Given the description of an element on the screen output the (x, y) to click on. 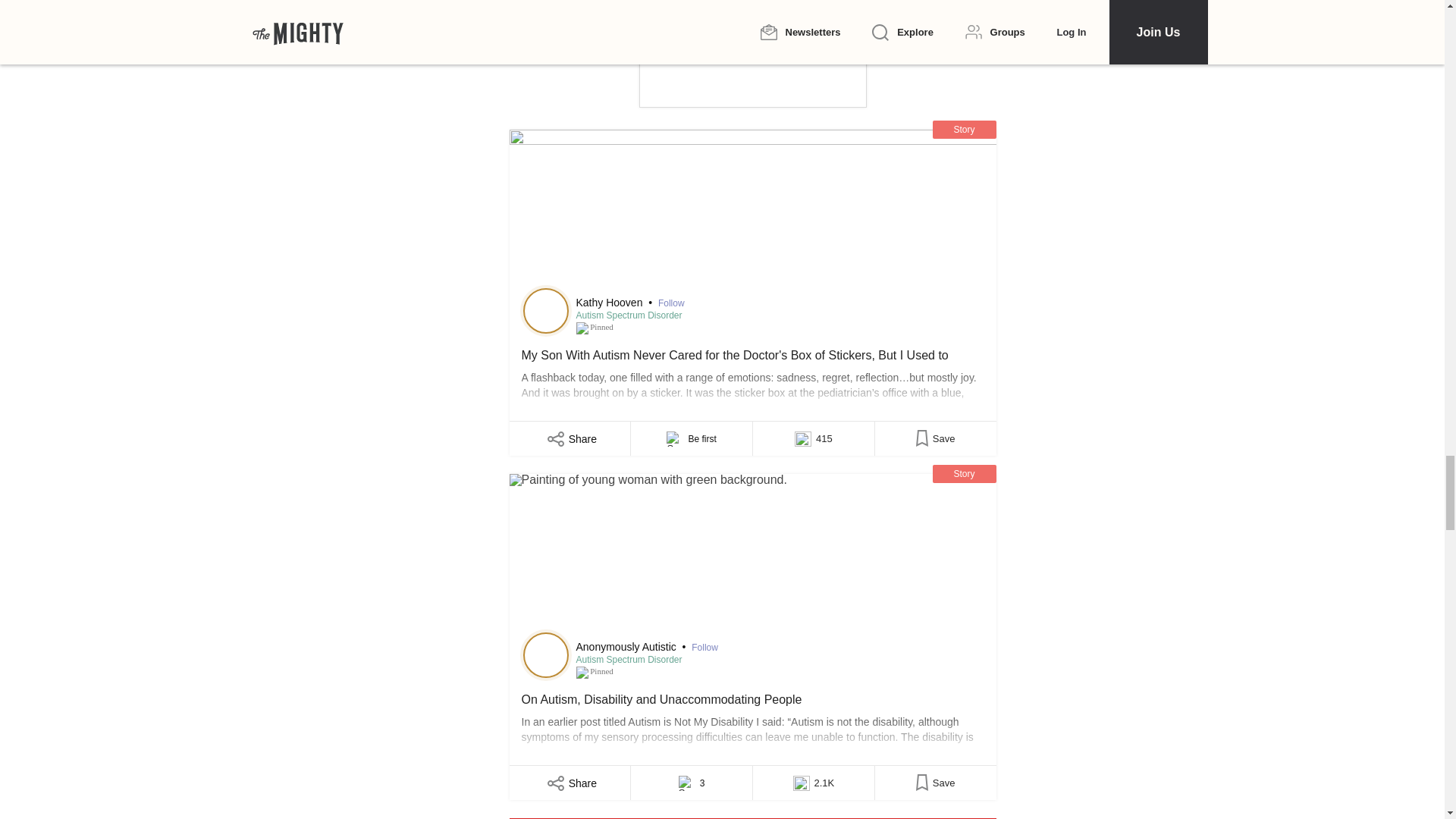
Visit Anonymously Autistic's profile (545, 655)
On Autism, Disability and Unaccommodating People (752, 555)
Visit Kathy Hooven's profile (545, 310)
